Given the description of an element on the screen output the (x, y) to click on. 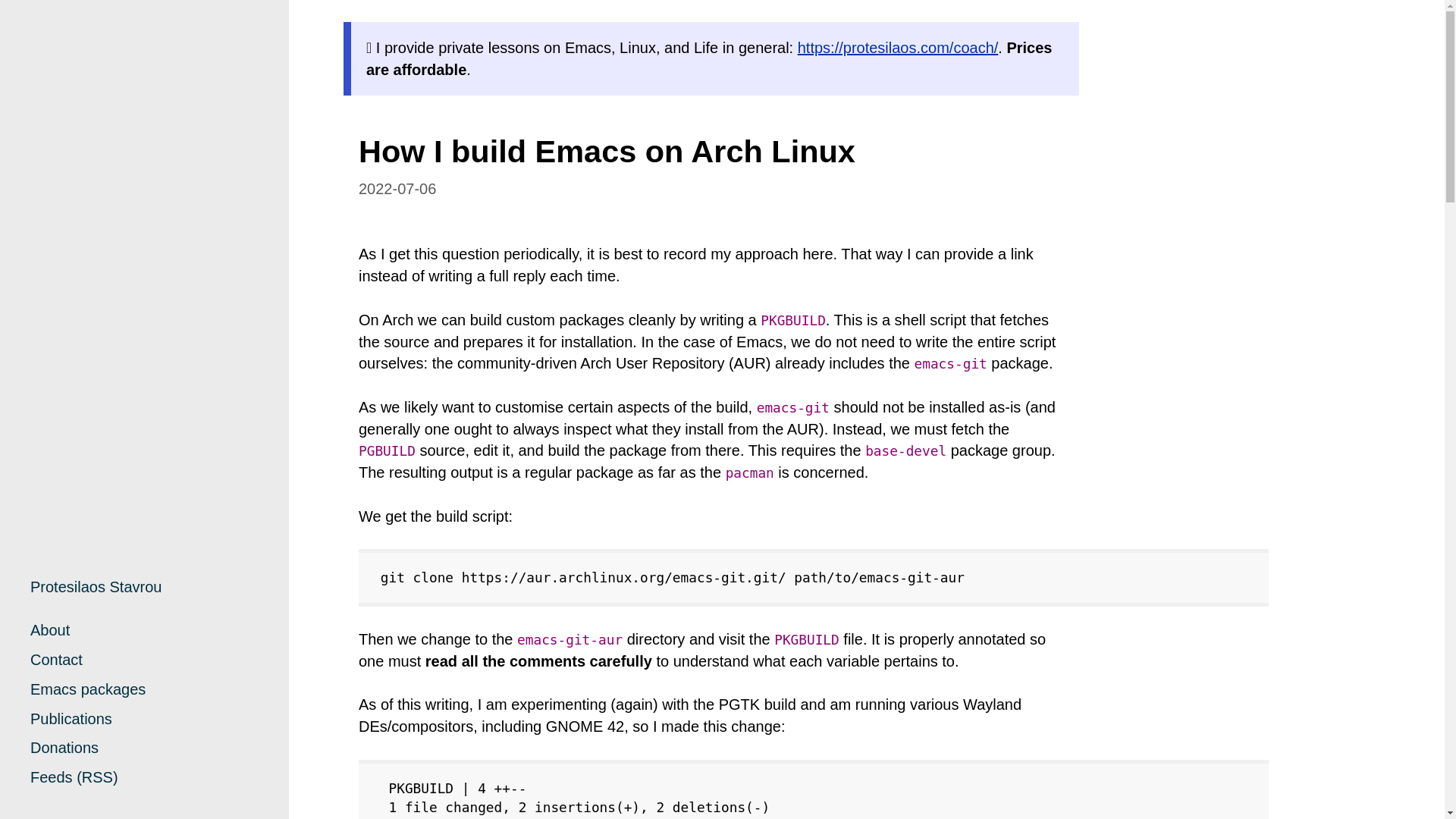
Protesilaos Stavrou (95, 586)
Emacs packages (87, 688)
Donations (64, 747)
Publications (71, 718)
Contact (56, 659)
About (49, 629)
